Given the description of an element on the screen output the (x, y) to click on. 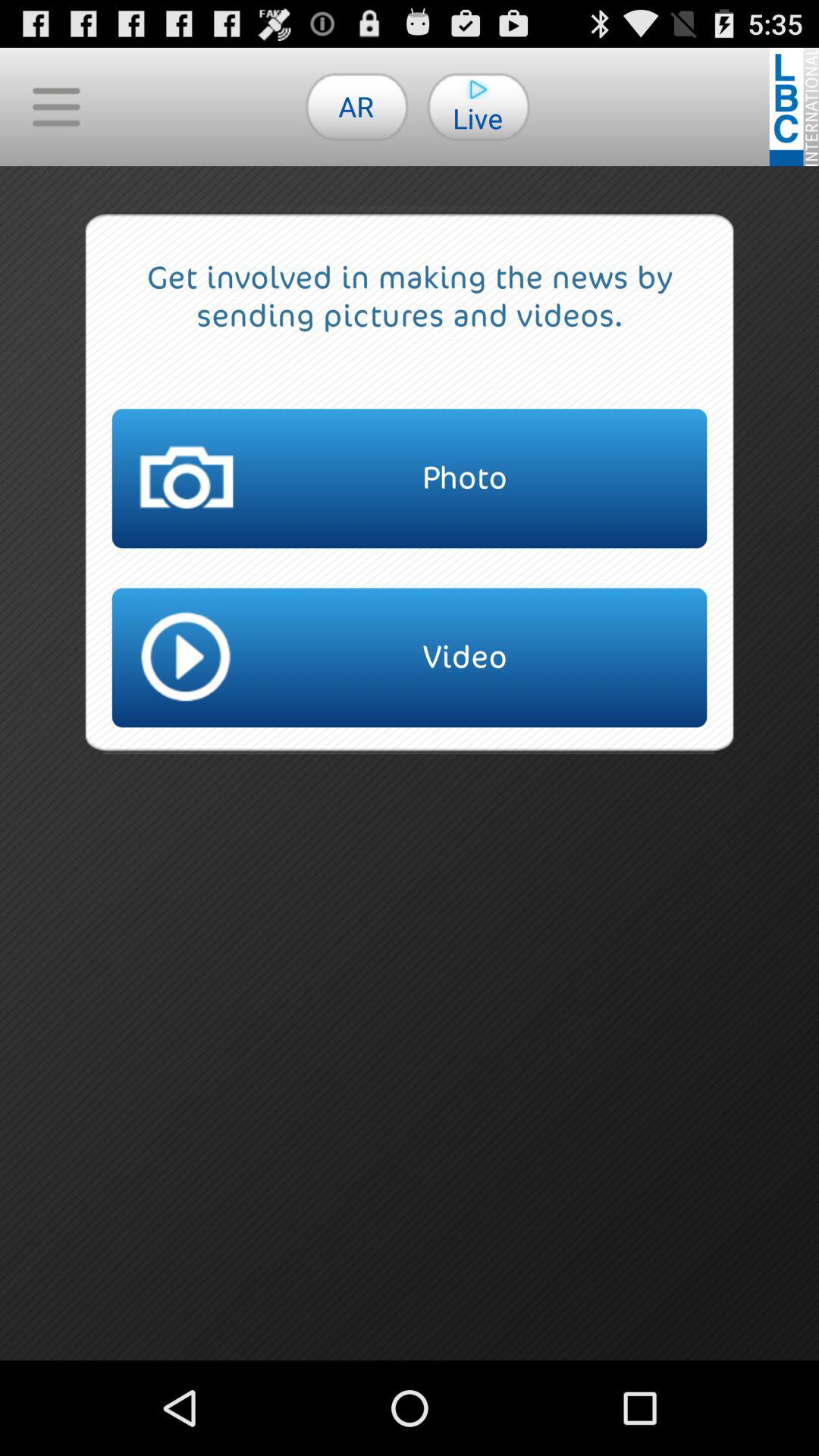
tap button at the center (409, 657)
